Given the description of an element on the screen output the (x, y) to click on. 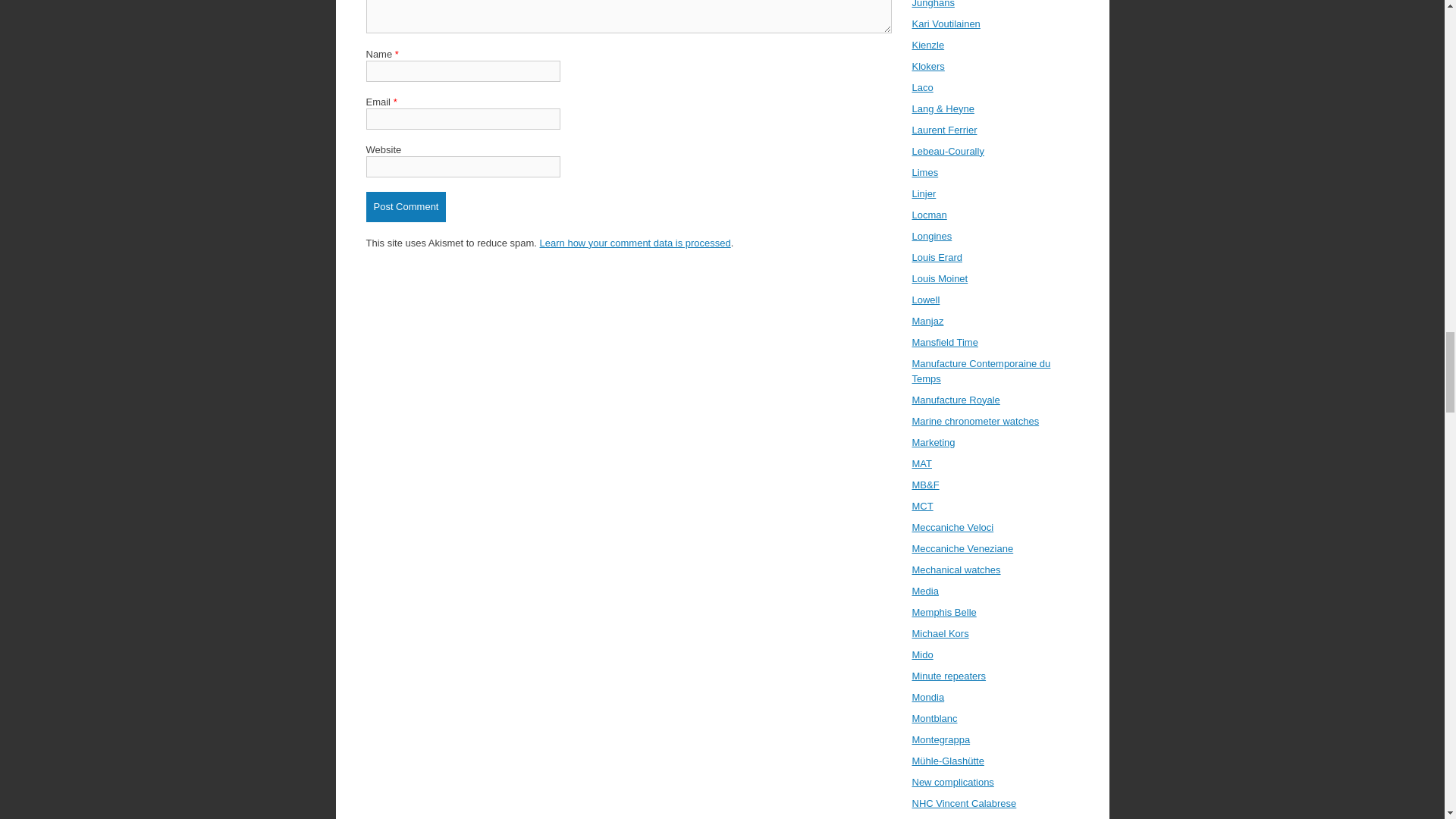
Post Comment (405, 206)
Learn how your comment data is processed (635, 242)
Post Comment (405, 206)
